Given the description of an element on the screen output the (x, y) to click on. 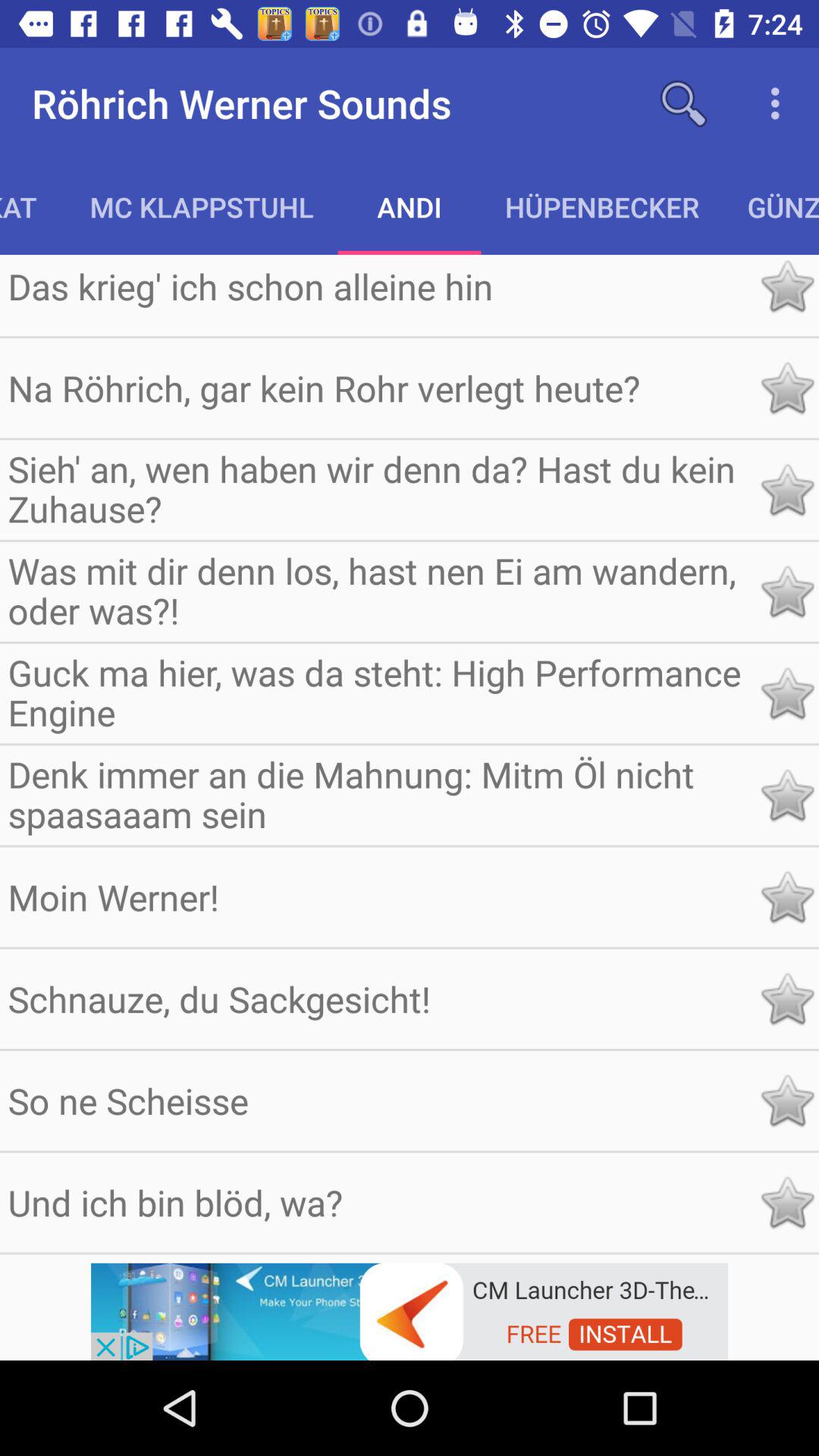
add to favorites (787, 795)
